Given the description of an element on the screen output the (x, y) to click on. 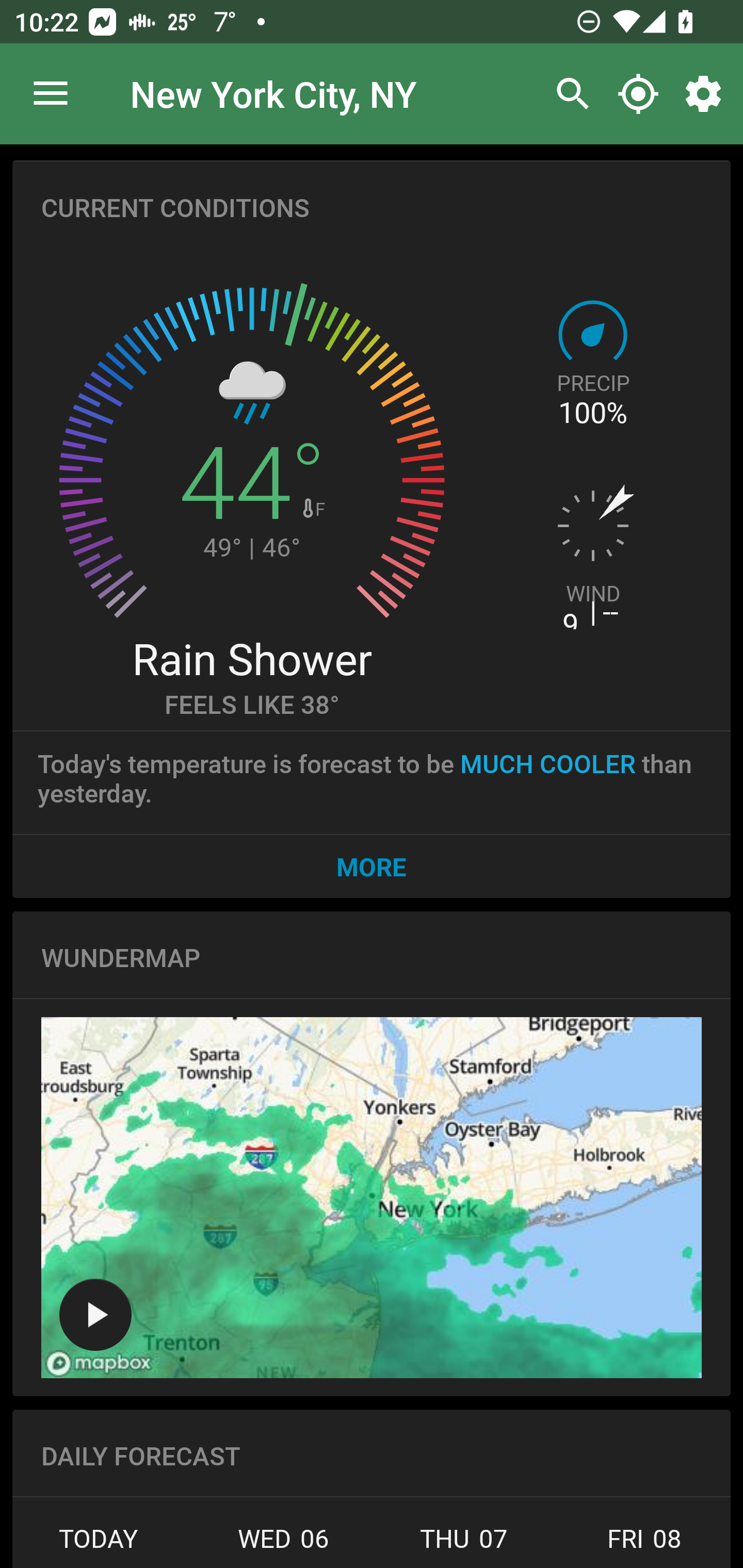
Press to open location manager. (50, 93)
Search for location (567, 94)
Select GPS location (637, 94)
Settings (706, 94)
New York City, NY (273, 92)
100% (592, 412)
Rain Shower (251, 657)
MORE (371, 865)
Weather Map (371, 1197)
Weather Map (95, 1314)
TODAY (102, 1544)
WED 06 (283, 1544)
THU 07 (463, 1544)
FRI 08 (642, 1544)
